Given the description of an element on the screen output the (x, y) to click on. 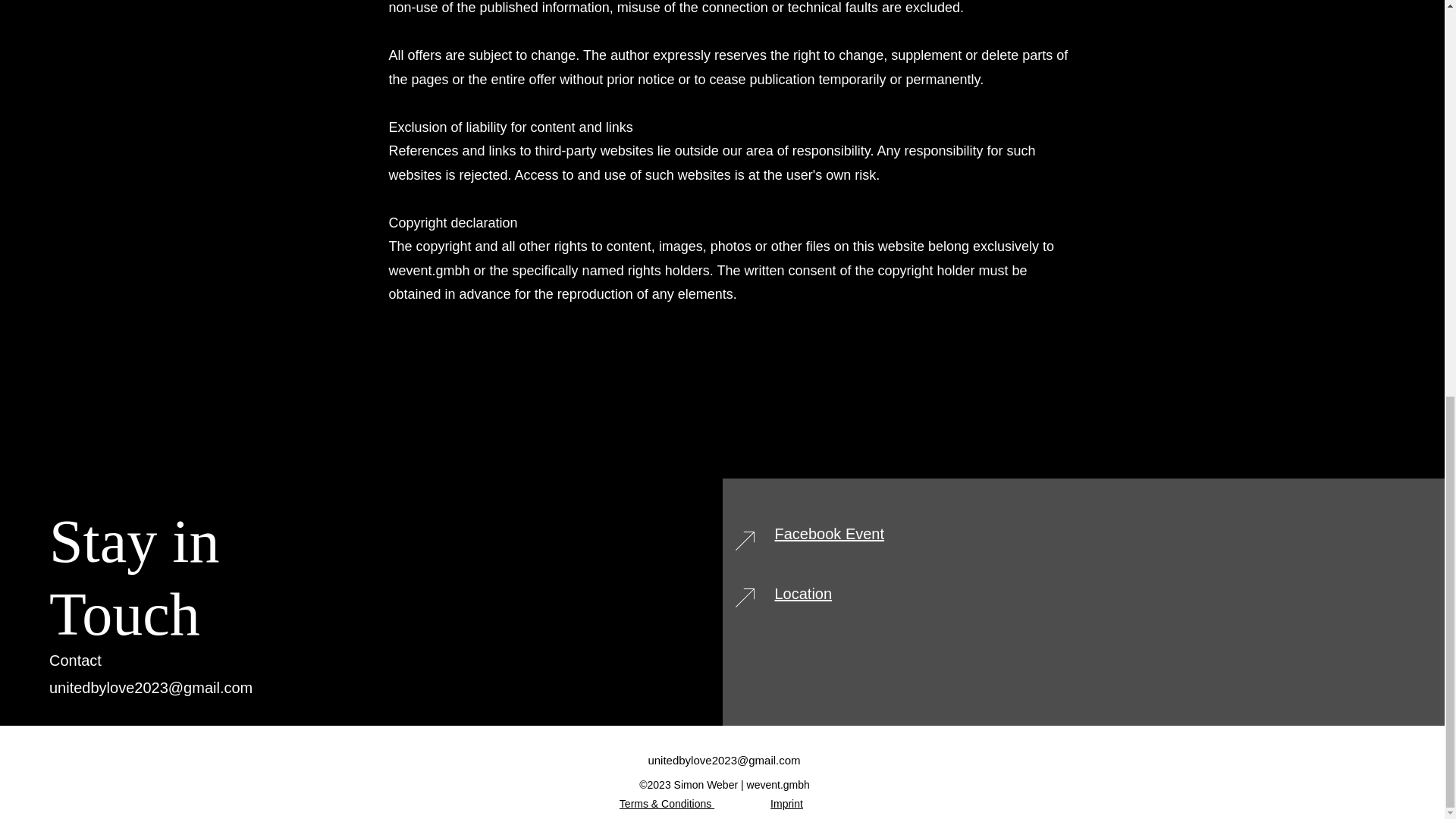
Imprint (786, 803)
Facebook Event (829, 533)
Location (803, 593)
